Given the description of an element on the screen output the (x, y) to click on. 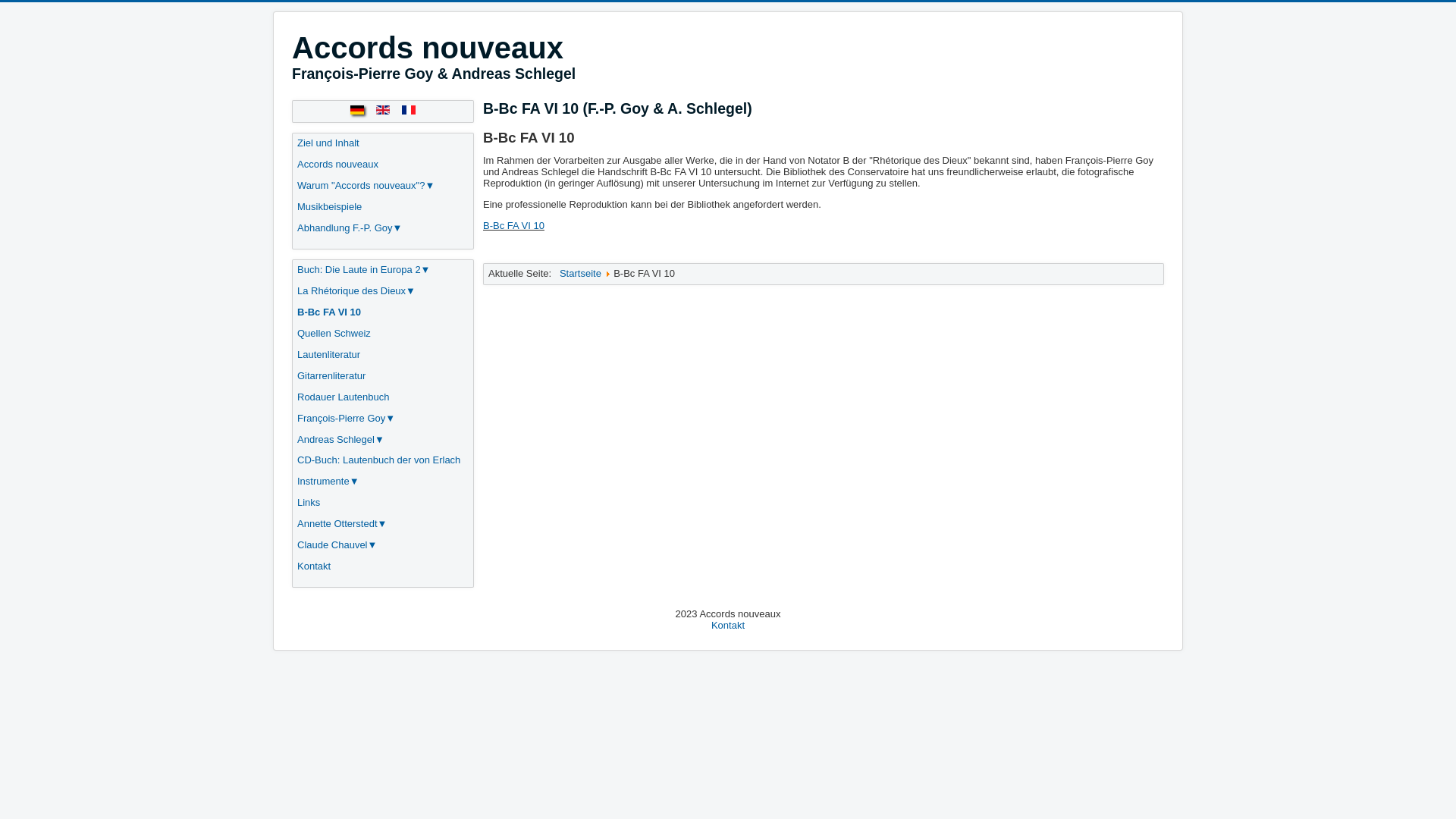
Ziel und Inhalt Element type: text (328, 142)
Accords nouveaux Element type: text (337, 163)
Musikbeispiele Element type: text (329, 206)
Rodauer Lautenbuch Element type: text (343, 396)
Startseite Element type: text (580, 273)
B-Bc FA VI 10 Element type: text (513, 225)
Quellen Schweiz Element type: text (333, 332)
Kontakt Element type: text (313, 565)
CD-Buch: Lautenbuch der von Erlach Element type: text (378, 459)
Lautenliteratur Element type: text (328, 354)
English (United Kingdom) Element type: hover (382, 109)
Kontakt Element type: text (727, 624)
Links Element type: text (308, 502)
Gitarrenliteratur Element type: text (331, 375)
Deutsch (Deutschland) Element type: hover (357, 109)
B-Bc FA VI 10 Element type: text (328, 311)
